Given the description of an element on the screen output the (x, y) to click on. 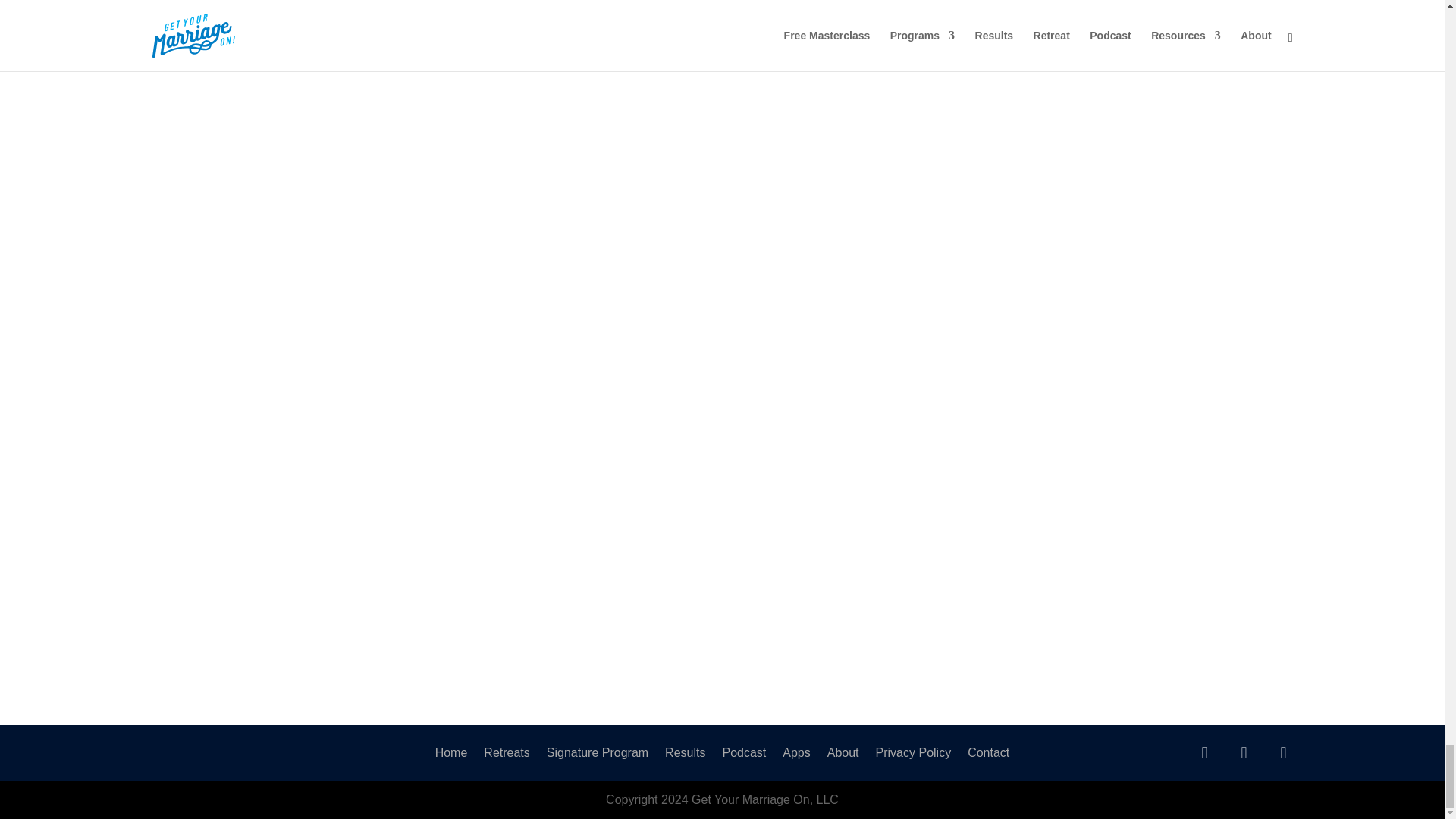
Follow on Facebook (1243, 752)
Follow on Instagram (1283, 752)
Follow on Youtube (1204, 752)
